Given the description of an element on the screen output the (x, y) to click on. 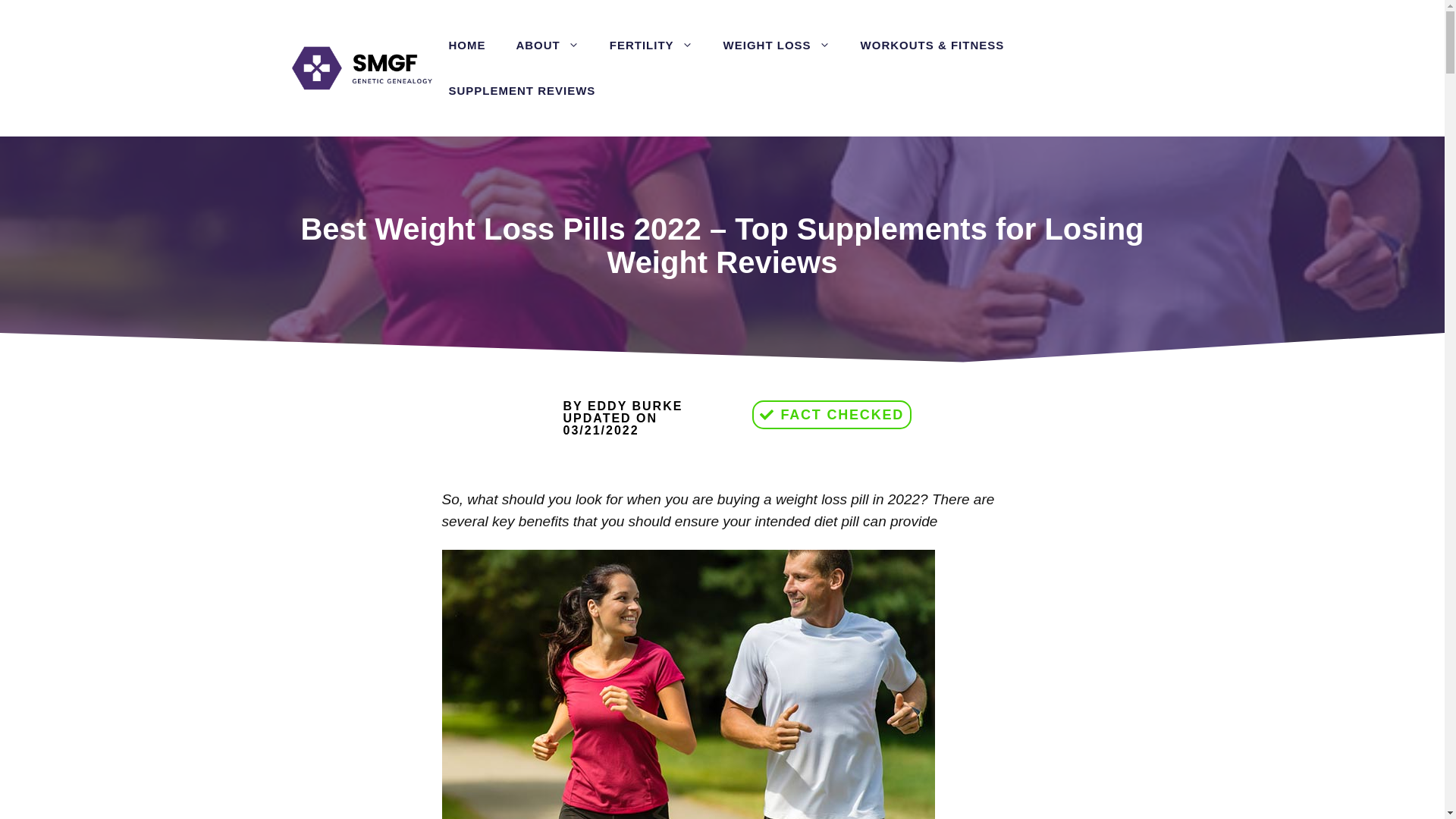
HOME (466, 44)
SUPPLEMENT REVIEWS (521, 90)
FERTILITY (650, 44)
ABOUT (547, 44)
WEIGHT LOSS (776, 44)
